Given the description of an element on the screen output the (x, y) to click on. 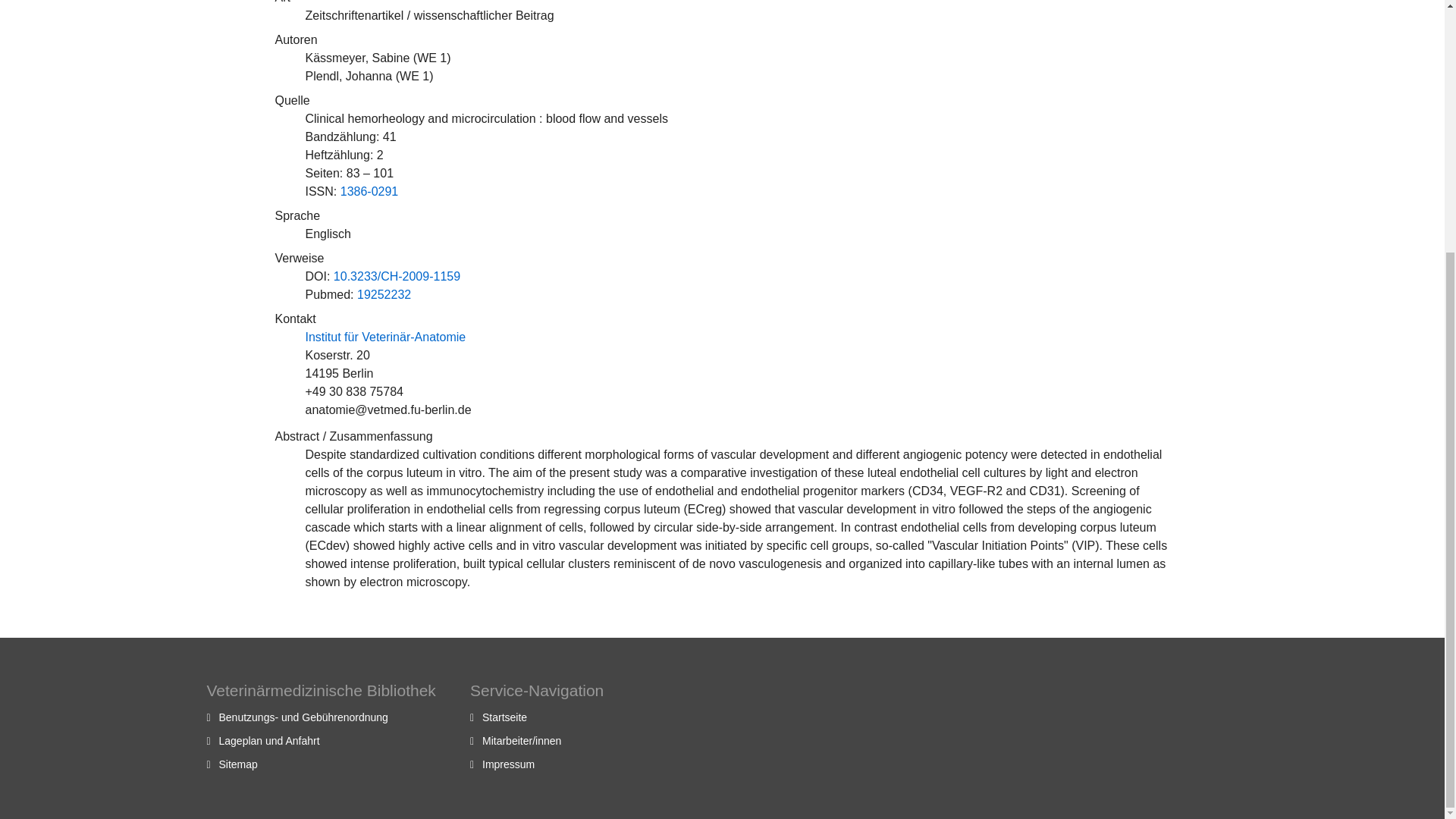
Lageplan und Anfahrt (268, 740)
Startseite (504, 717)
Sitemap (237, 764)
Impressum (507, 764)
19252232 (383, 294)
1386-0291 (369, 191)
